Given the description of an element on the screen output the (x, y) to click on. 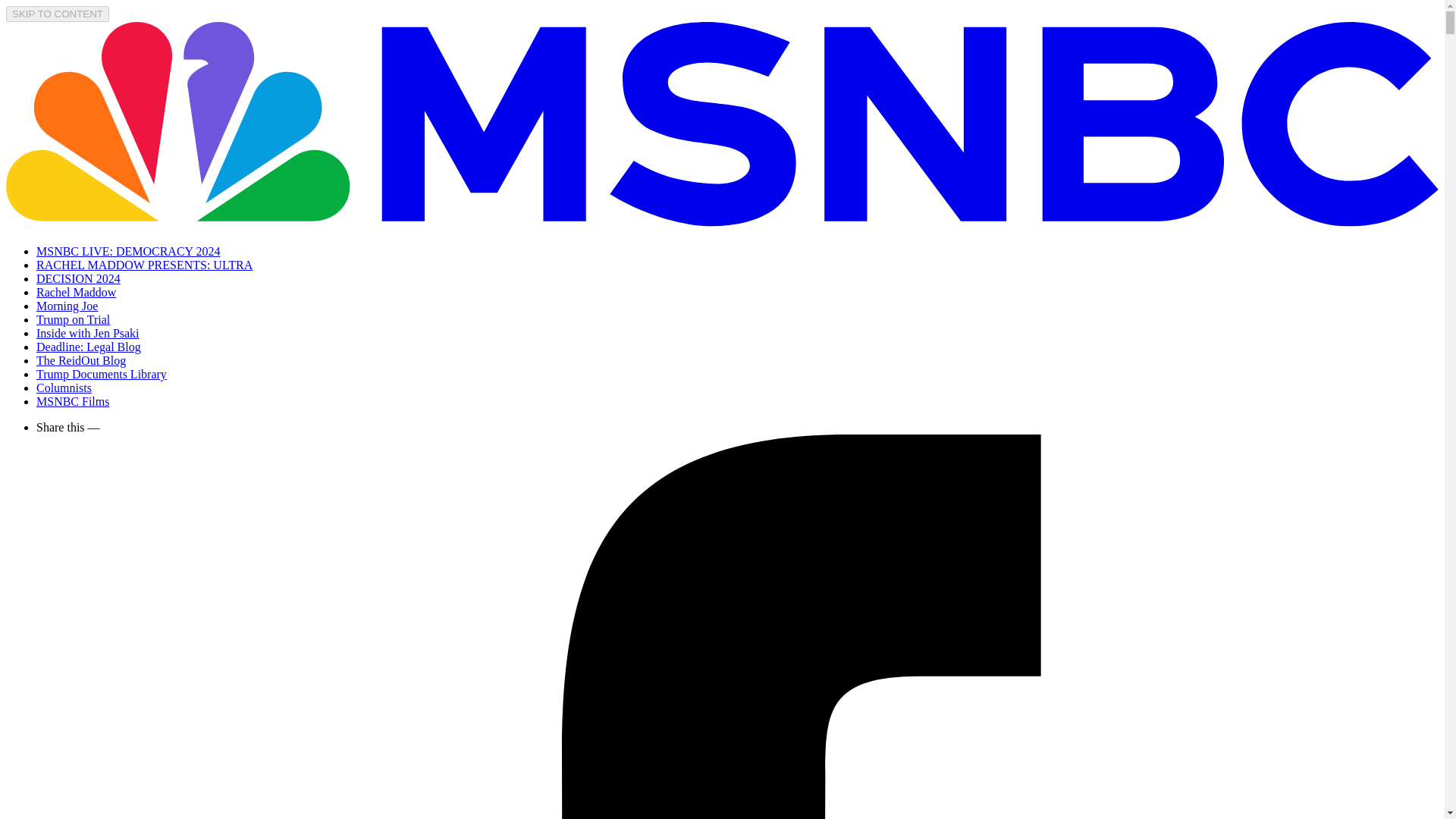
The ReidOut Blog (80, 359)
Inside with Jen Psaki (87, 332)
Morning Joe (66, 305)
MSNBC LIVE: DEMOCRACY 2024 (128, 250)
Deadline: Legal Blog (88, 346)
Trump on Trial (73, 318)
Rachel Maddow (76, 291)
Trump Documents Library (101, 373)
SKIP TO CONTENT (57, 13)
RACHEL MADDOW PRESENTS: ULTRA (143, 264)
MSNBC Films (72, 400)
DECISION 2024 (78, 278)
Columnists (63, 387)
